Given the description of an element on the screen output the (x, y) to click on. 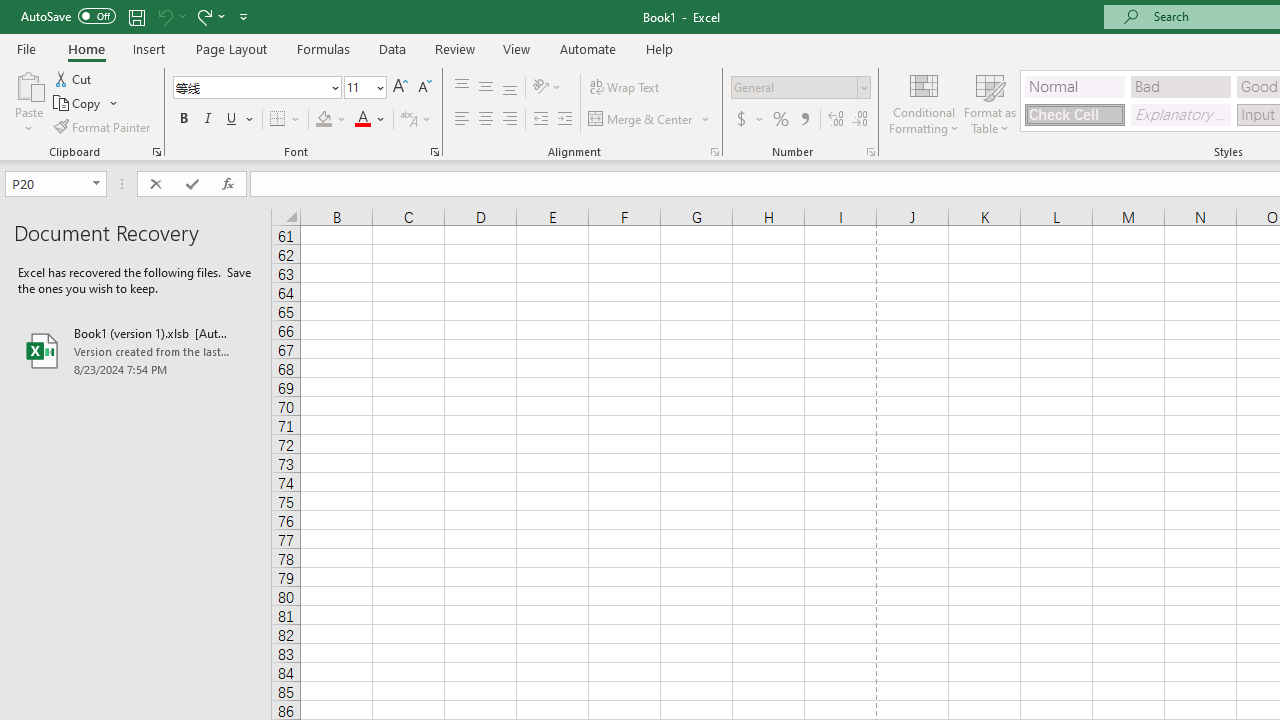
Merge & Center (649, 119)
Merge & Center (641, 119)
Check Cell (1074, 114)
Paste (28, 102)
Font (250, 87)
Bottom Align (509, 87)
Increase Indent (565, 119)
Font Color (370, 119)
Number Format (800, 87)
Underline (239, 119)
Decrease Font Size (424, 87)
